Given the description of an element on the screen output the (x, y) to click on. 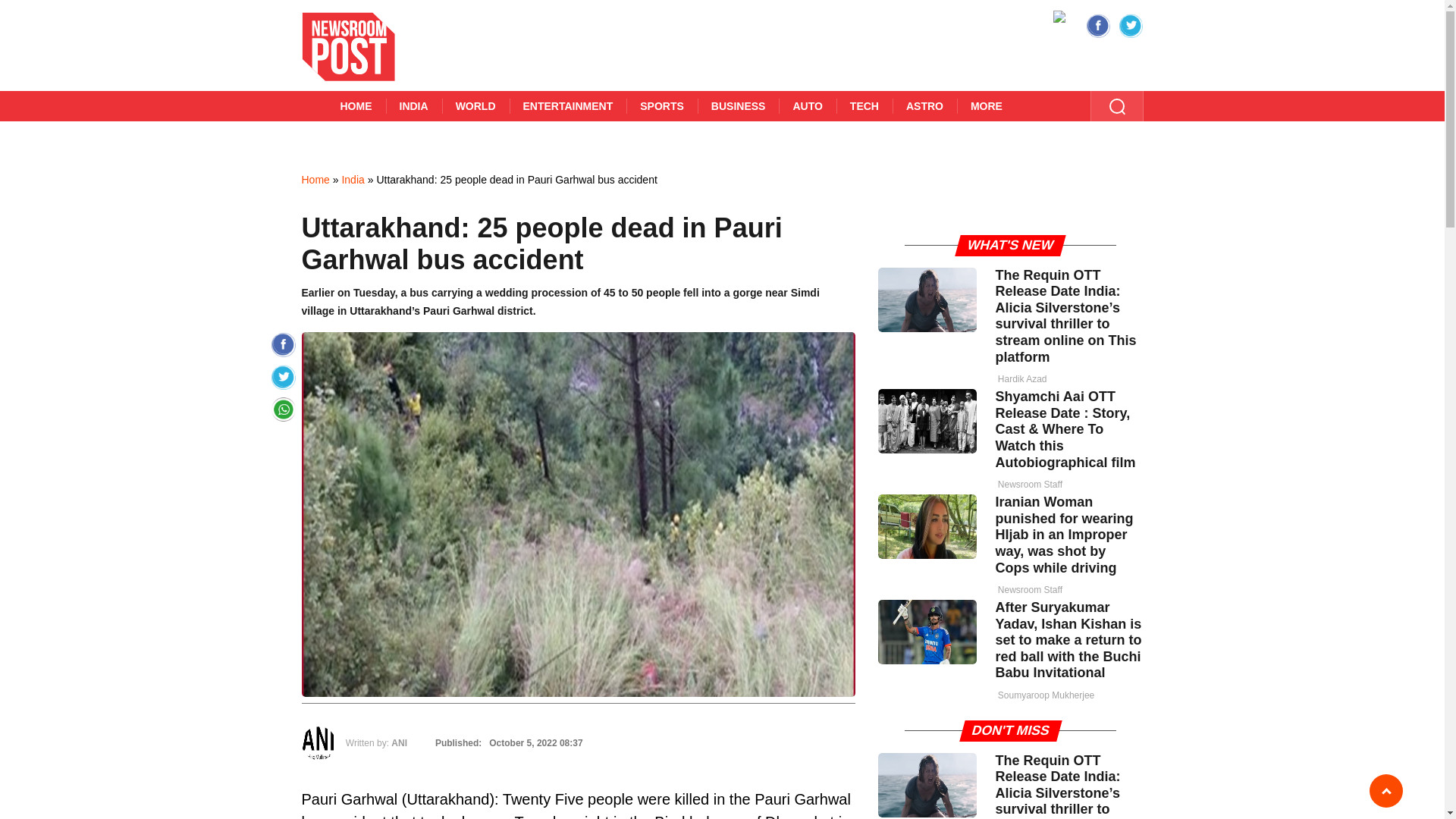
ASTRO (924, 105)
INDIA (413, 105)
HOME (355, 105)
Posts by ANI (399, 742)
Published:   October 5, 2022 08:37 (506, 742)
India (352, 179)
SPORTS (661, 105)
WORLD (475, 105)
MORE (986, 105)
